Given the description of an element on the screen output the (x, y) to click on. 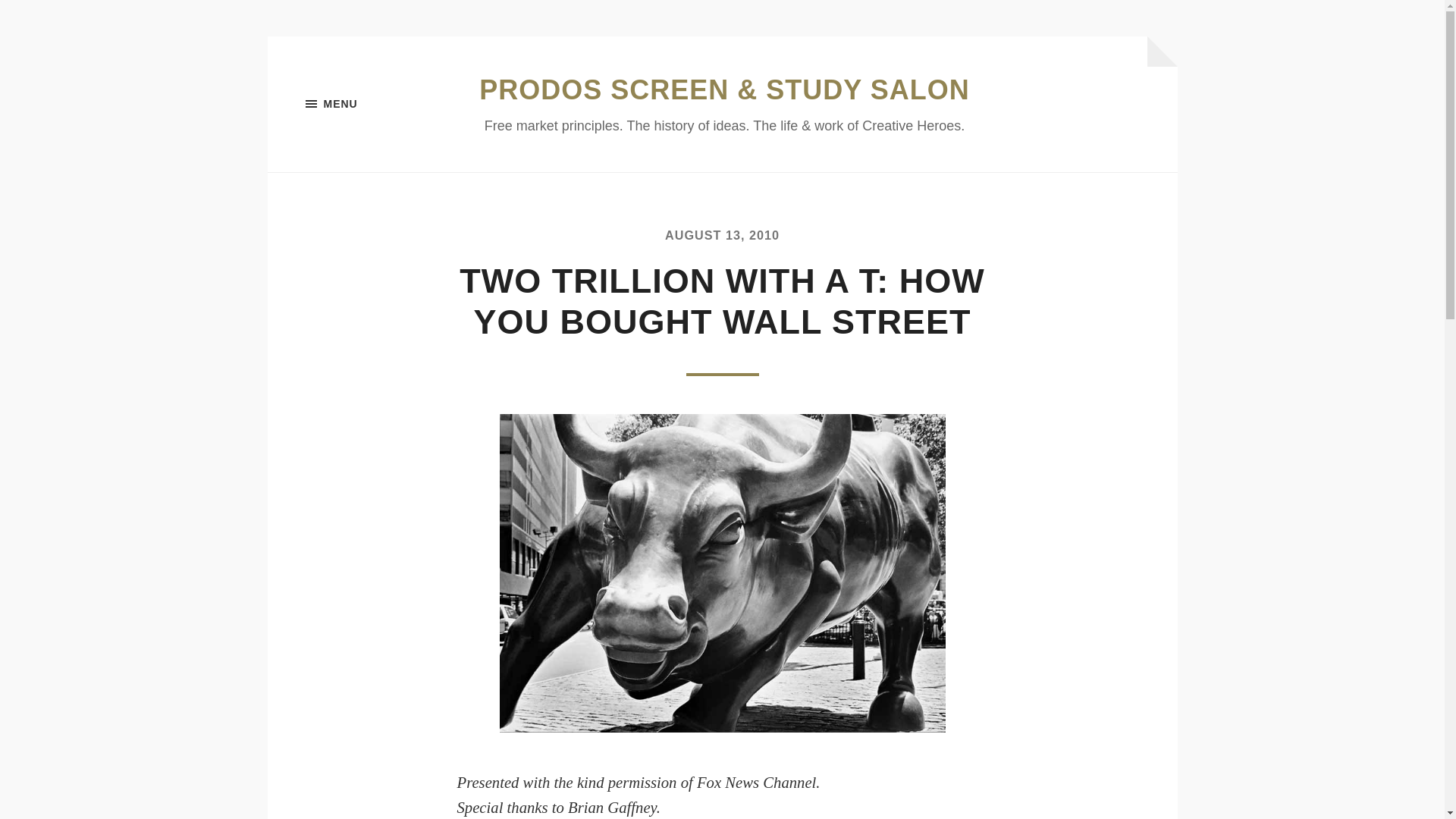
MENU (380, 103)
AUGUST 13, 2010 (721, 234)
